Given the description of an element on the screen output the (x, y) to click on. 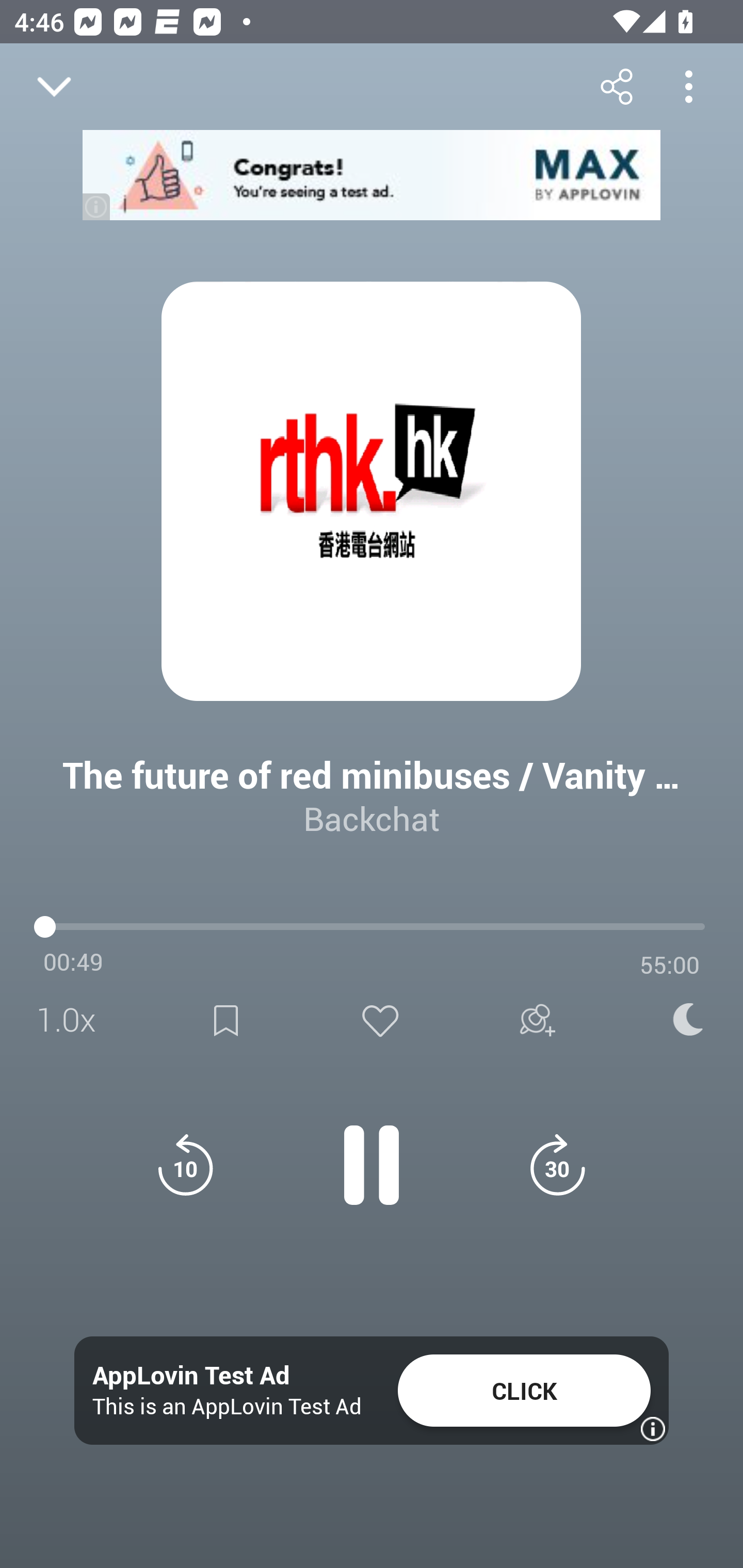
Close fullscreen player (54, 86)
Share (616, 86)
More options (688, 86)
app-monetization (371, 175)
(i) (96, 206)
Backchat (371, 818)
55:00 (669, 964)
1.0x Speed (72, 1020)
Like (380, 1020)
Pause button (371, 1153)
Jump back (185, 1164)
Jump forward (557, 1164)
CLICK (523, 1390)
AppLovin Test Ad (191, 1375)
This is an AppLovin Test Ad (226, 1406)
